Given the description of an element on the screen output the (x, y) to click on. 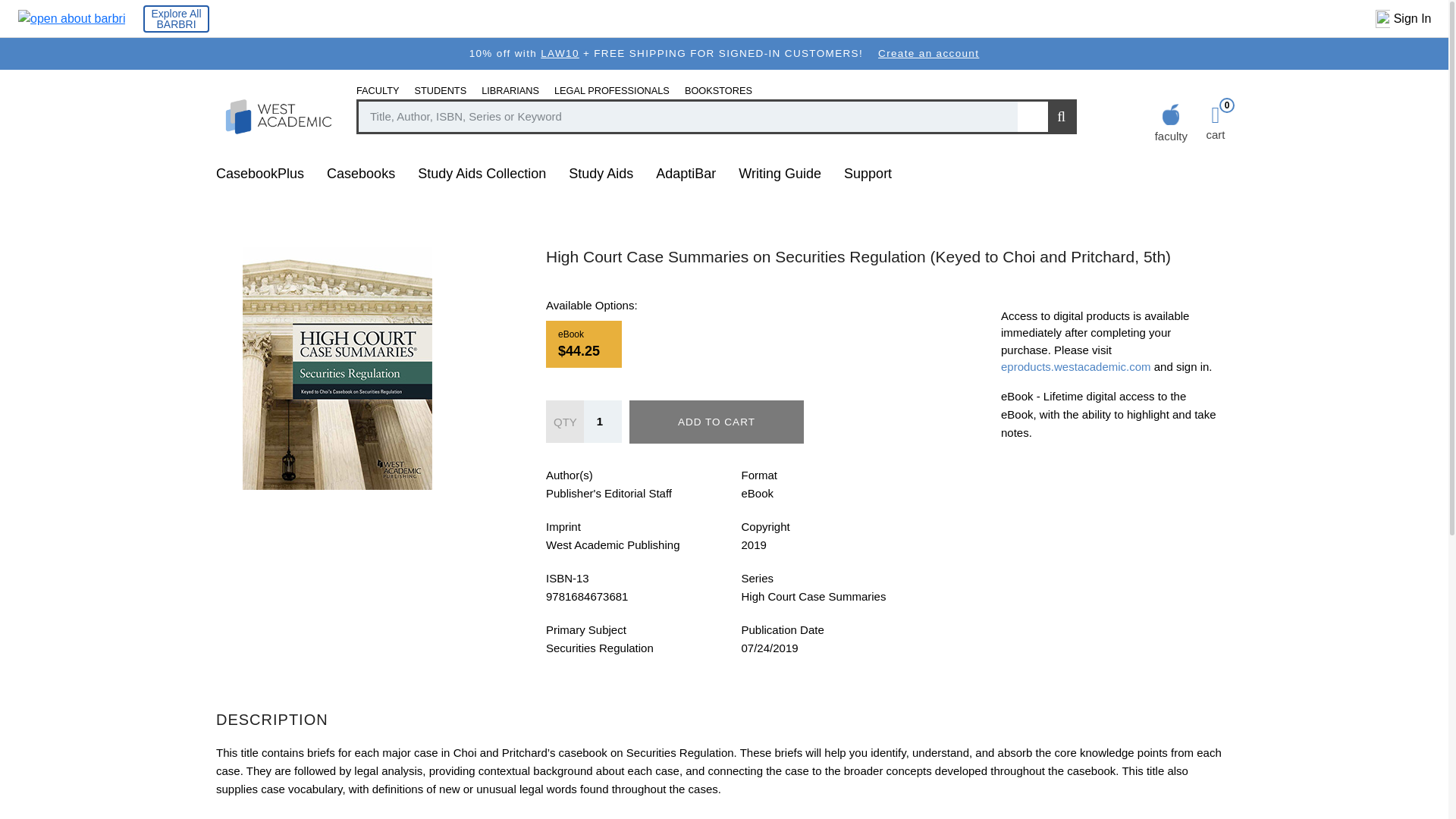
1 (602, 421)
Cart (1214, 122)
West Academic SCA (175, 17)
